Given the description of an element on the screen output the (x, y) to click on. 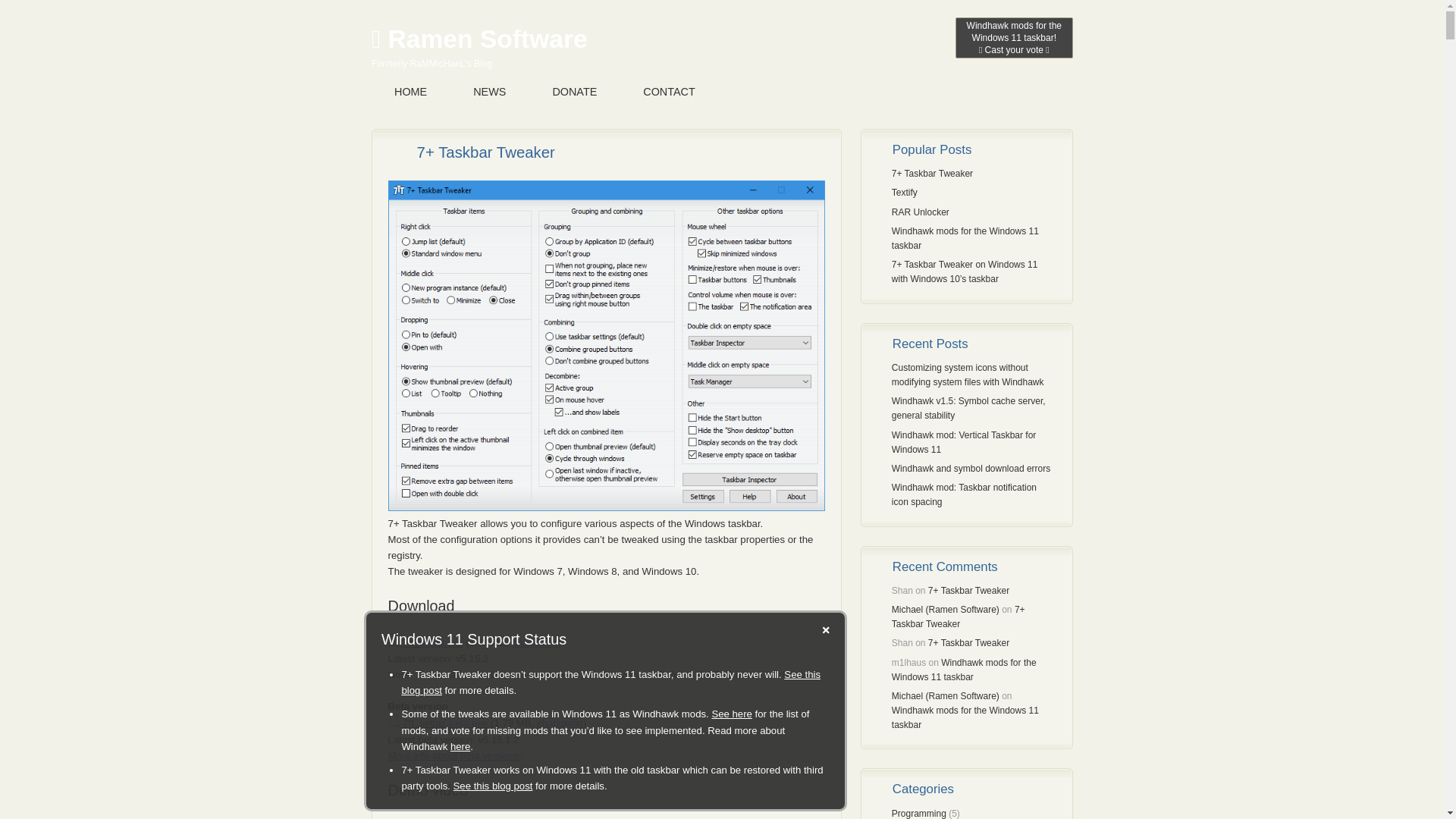
See this blog post (492, 785)
DONATE (574, 92)
changelog (560, 722)
NEWS (488, 92)
exe (394, 720)
More info about beta versions (453, 755)
here (459, 746)
changelog (534, 642)
See here (731, 713)
Ramen Software (479, 39)
